Given the description of an element on the screen output the (x, y) to click on. 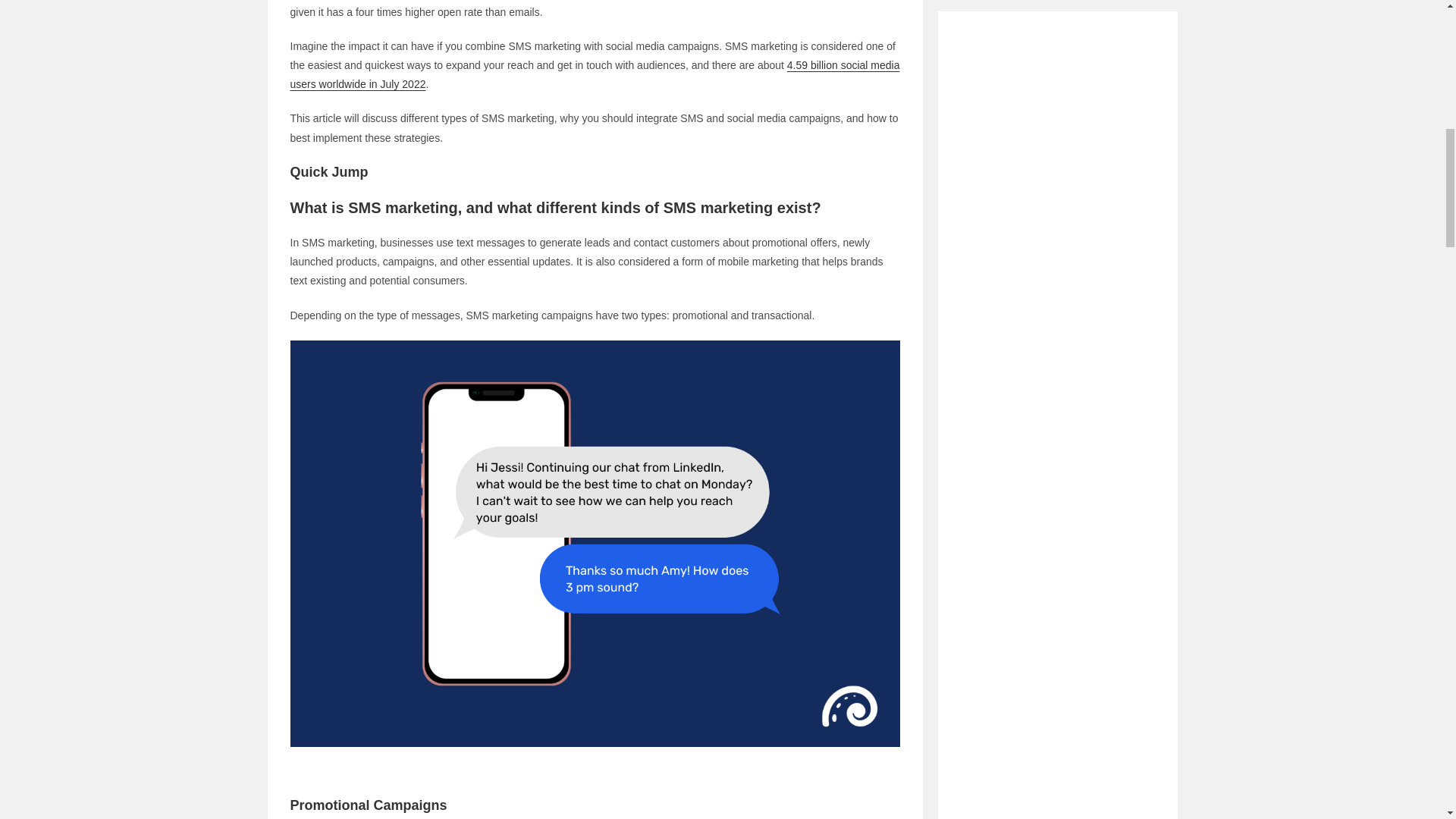
4.59 billion social media users worldwide in July 2022 (594, 74)
